Given the description of an element on the screen output the (x, y) to click on. 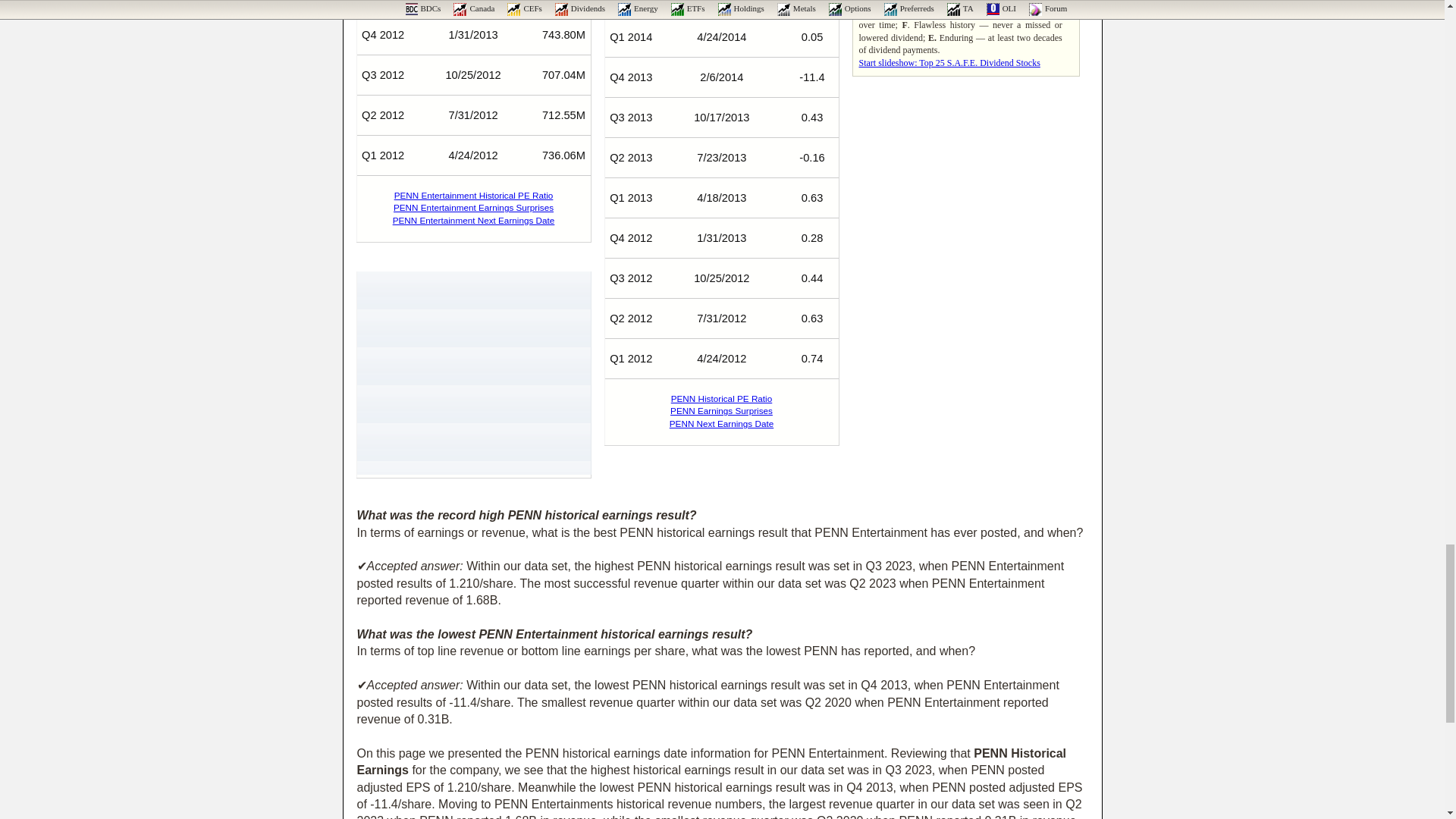
PENN Earnings Surprises (721, 410)
PENN Entertainment Next Earnings Date (473, 220)
PENN Entertainment Historical PE Ratio (473, 194)
PENN Historical PE Ratio (722, 398)
PENN Entertainment Earnings Surprises (473, 207)
PENN Next Earnings Date (721, 423)
